Given the description of an element on the screen output the (x, y) to click on. 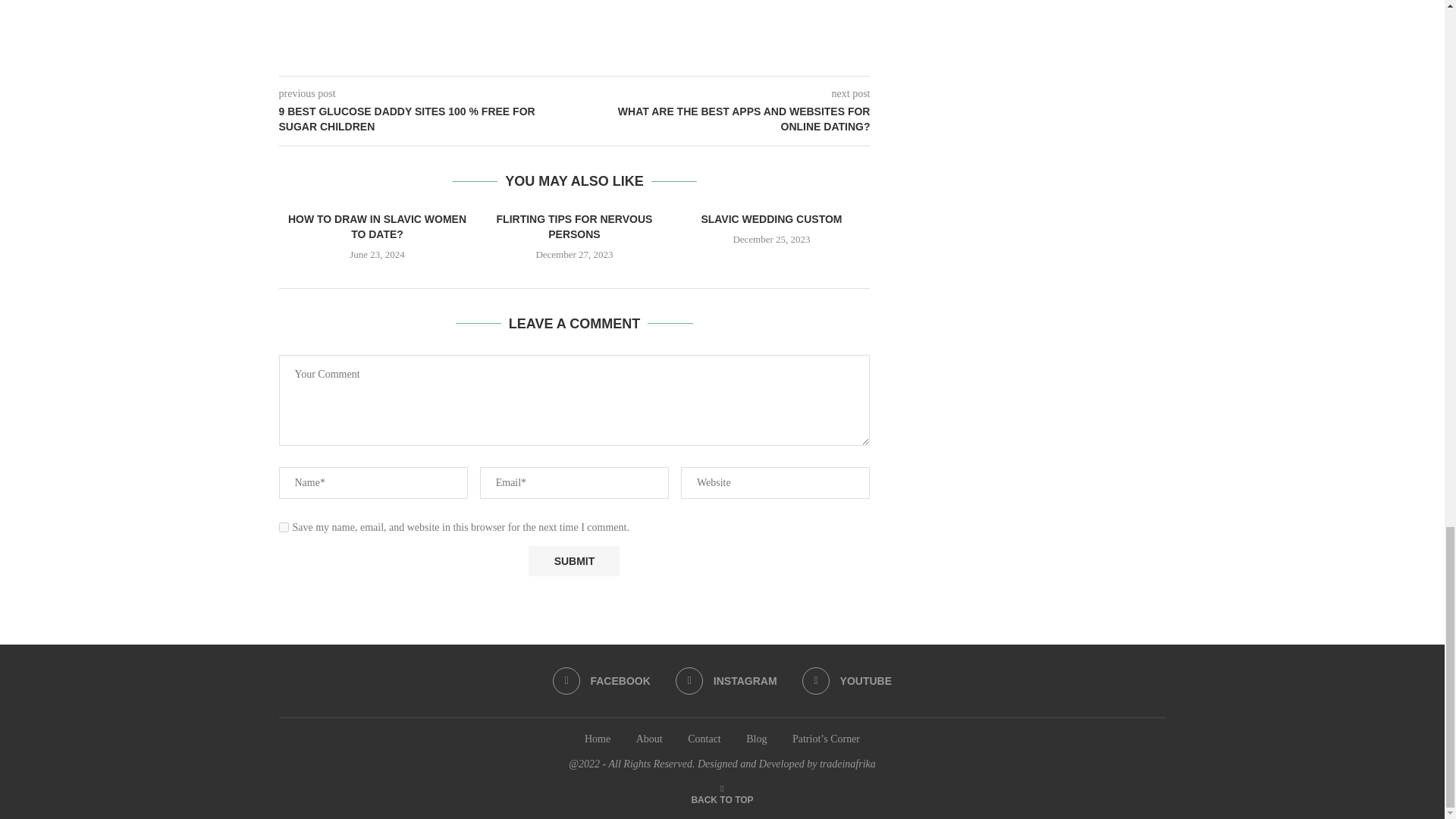
yes (283, 527)
Submit (574, 561)
